Given the description of an element on the screen output the (x, y) to click on. 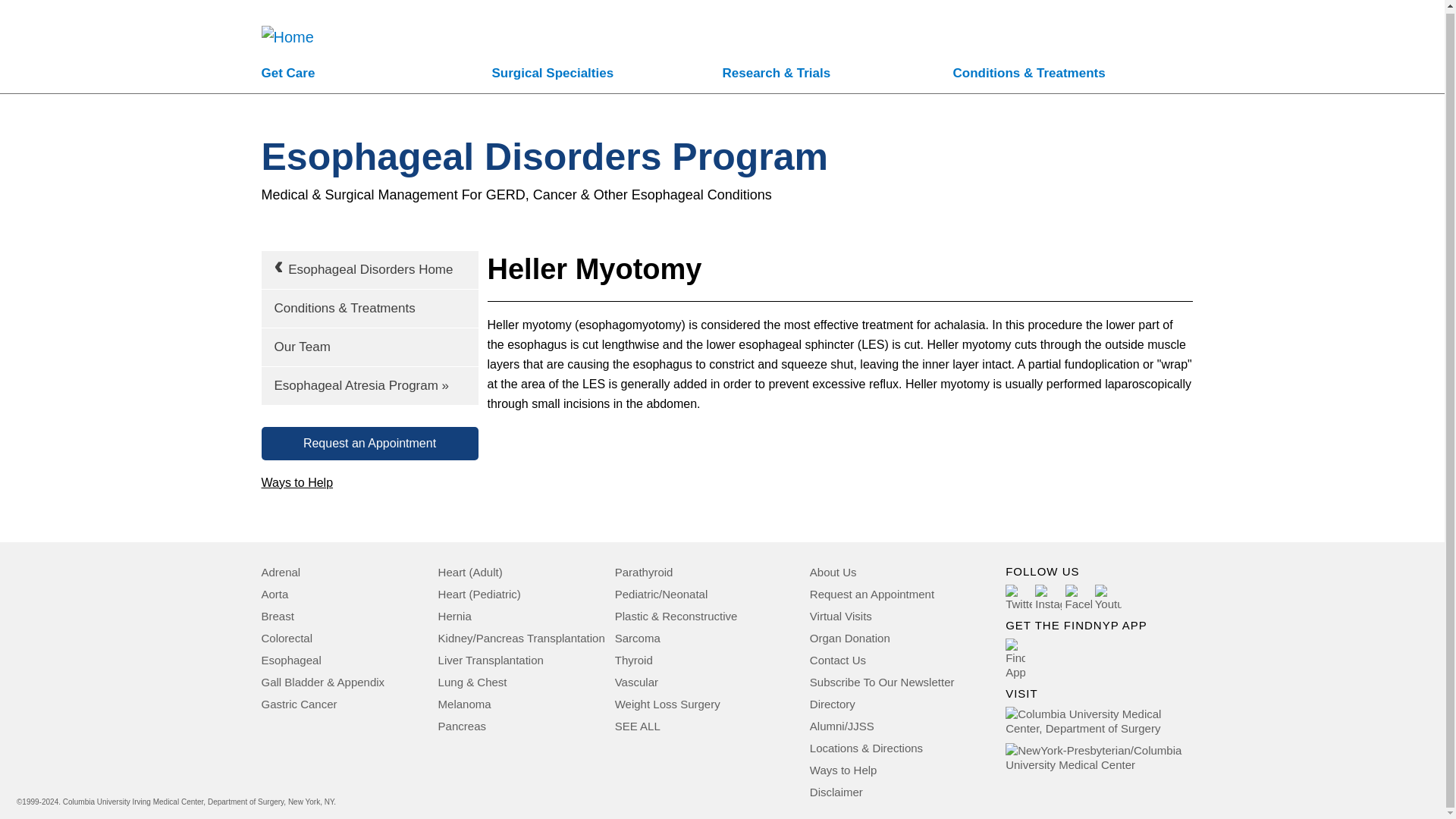
Get Care (376, 75)
Home (286, 21)
Surgical Specialties (607, 75)
